Given the description of an element on the screen output the (x, y) to click on. 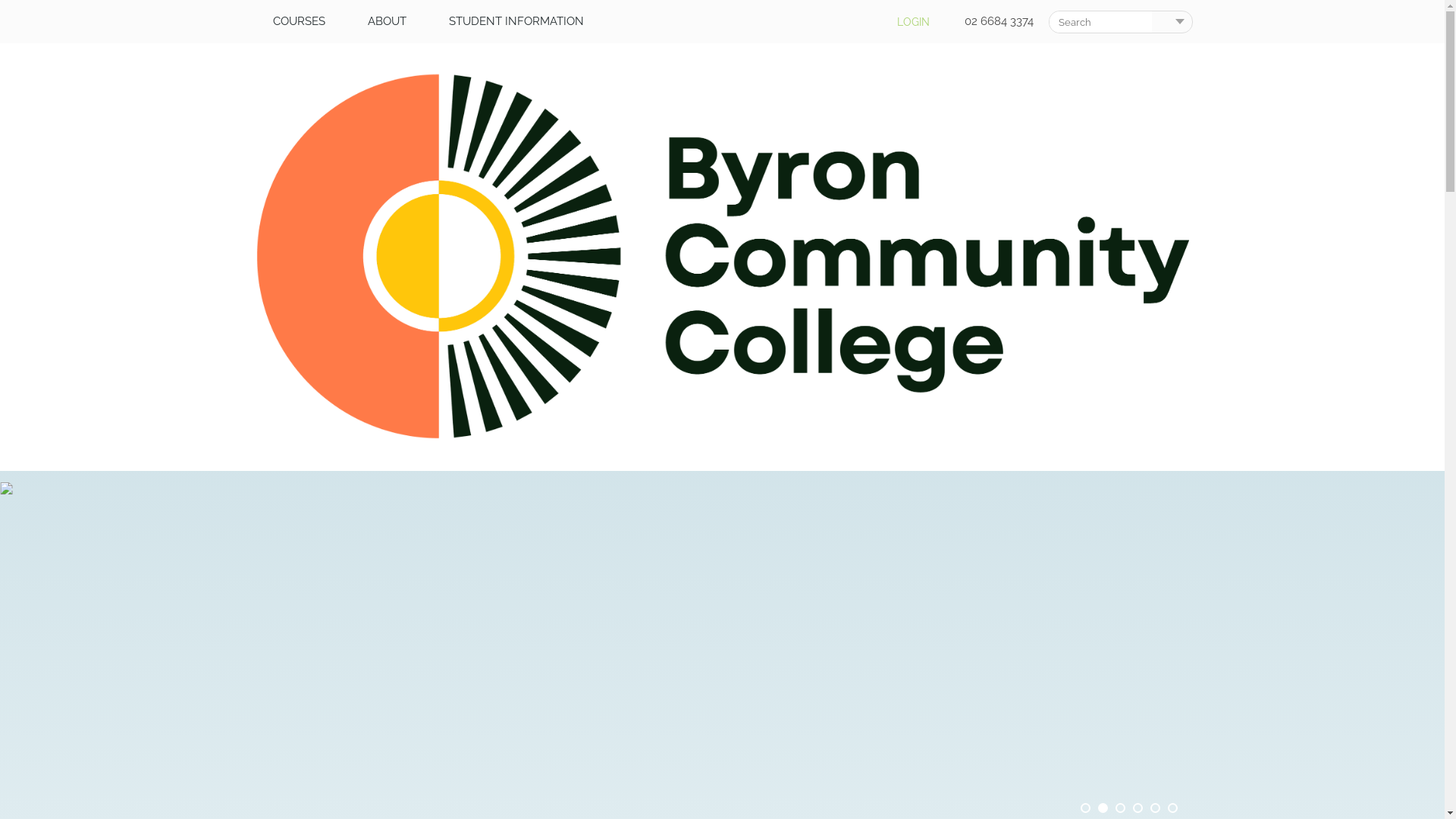
1 Element type: text (1084, 807)
ABOUT Element type: text (386, 21)
More options Element type: text (1179, 21)
Search Element type: text (1163, 21)
2 Element type: text (1102, 807)
6 Element type: text (1172, 807)
3 Element type: text (1119, 807)
STUDENT INFORMATION Element type: text (515, 21)
5 Element type: text (1154, 807)
4 Element type: text (1137, 807)
LOGIN Element type: text (912, 22)
02 6684 3374 Element type: text (998, 21)
COURSES Element type: text (298, 21)
